Given the description of an element on the screen output the (x, y) to click on. 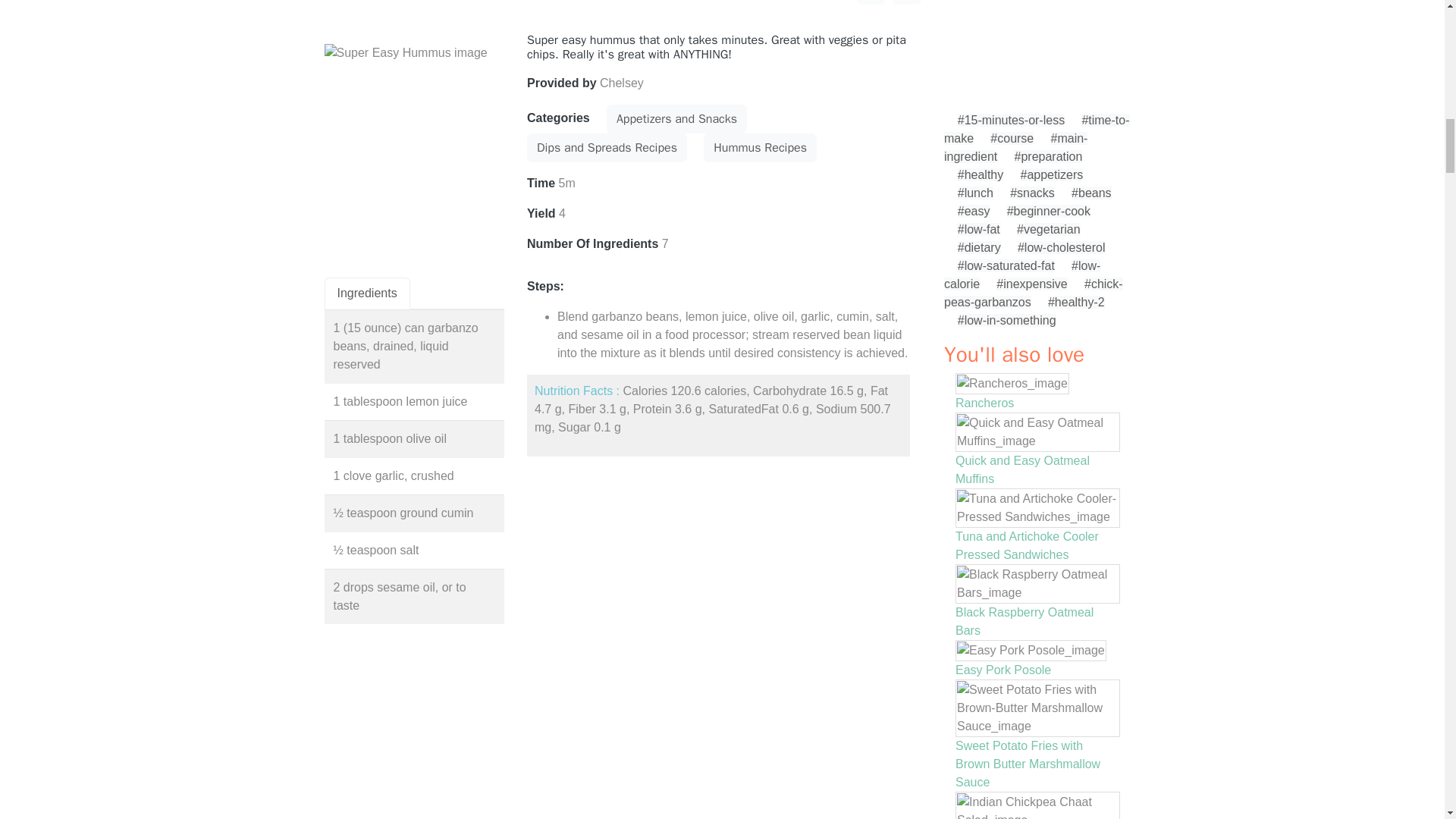
Easy Pork Posole (1003, 669)
Tuna and Artichoke Cooler Pressed Sandwiches (1027, 545)
Ingredients (367, 293)
Quick and Easy Oatmeal Muffins (1022, 469)
6 (871, 2)
Rancheros (984, 402)
8 (906, 2)
Appetizers and Snacks (676, 118)
Dips and Spreads Recipes (607, 147)
Hummus Recipes (759, 147)
